Given the description of an element on the screen output the (x, y) to click on. 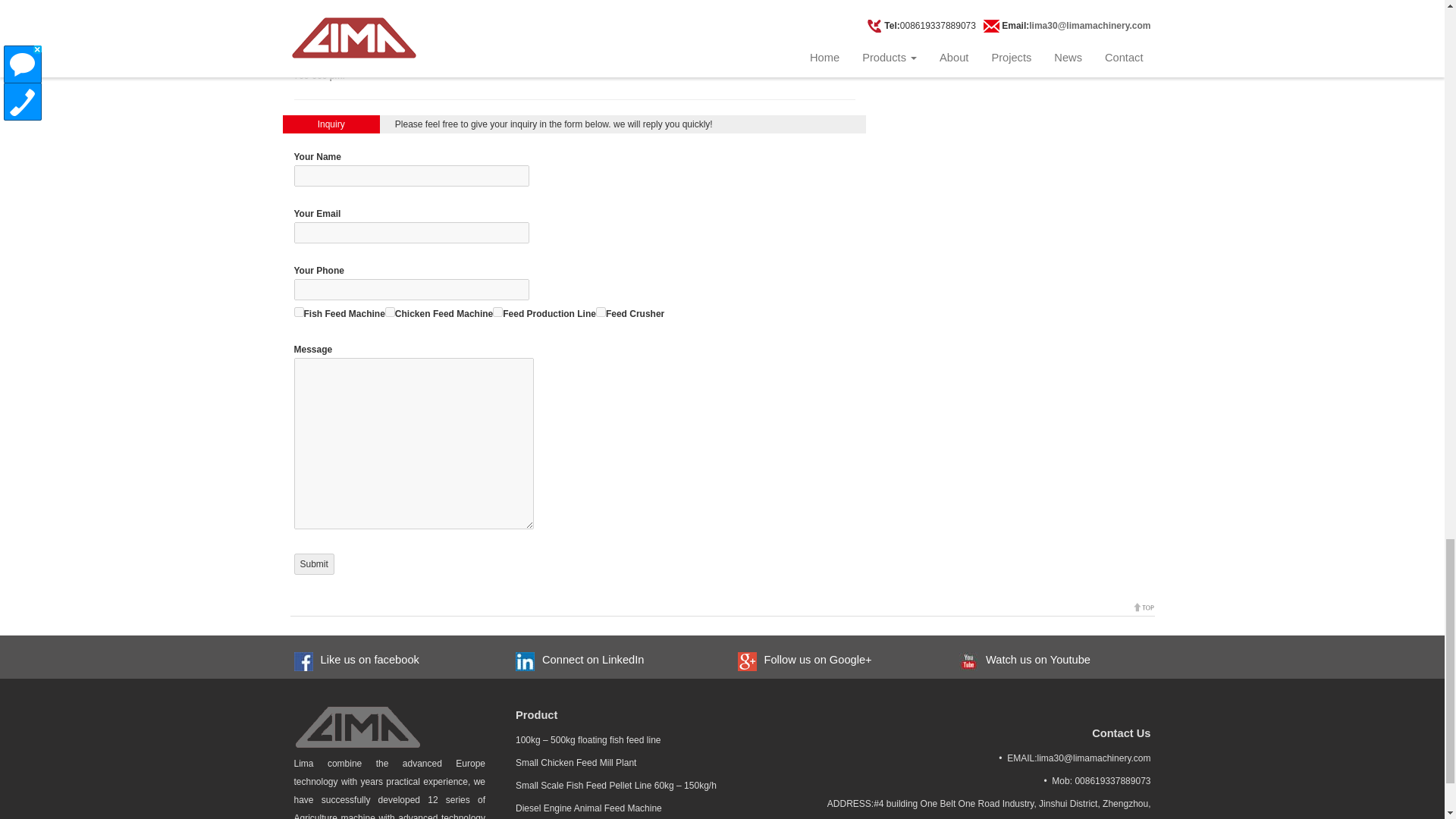
Submit (314, 563)
Fish Feed Machine (299, 311)
Feed Crusher (600, 311)
Submit (314, 563)
Feed Production Line (497, 311)
Chicken Feed Machine (389, 311)
Connect on LinkedIn (588, 659)
Like us on facebook (366, 659)
